Given the description of an element on the screen output the (x, y) to click on. 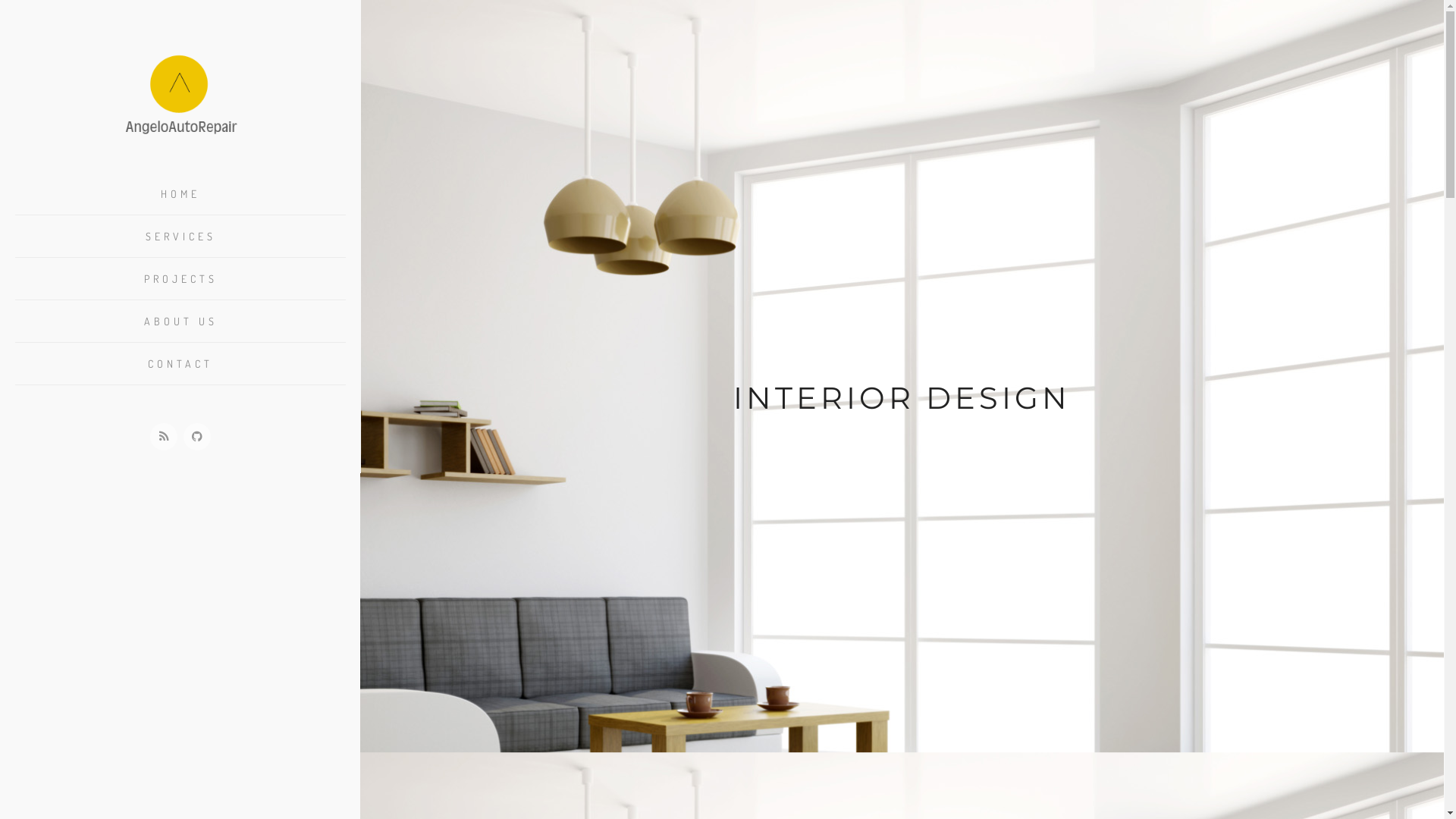
SERVICES Element type: text (180, 235)
HOME Element type: text (180, 193)
ABOUT US Element type: text (180, 320)
PROJECTS Element type: text (180, 278)
CONTACT Element type: text (180, 363)
